Given the description of an element on the screen output the (x, y) to click on. 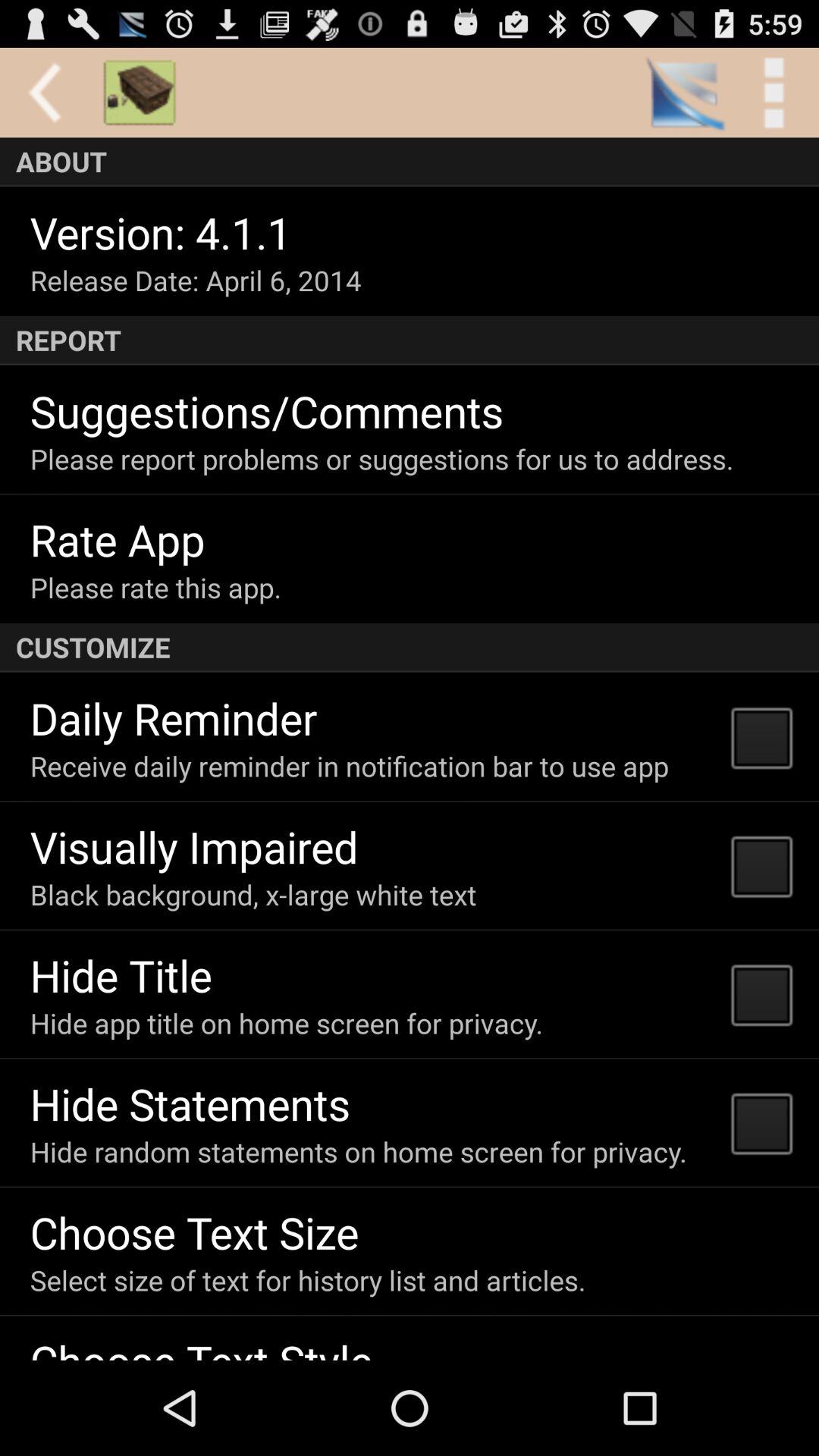
click the please rate this icon (155, 587)
